Given the description of an element on the screen output the (x, y) to click on. 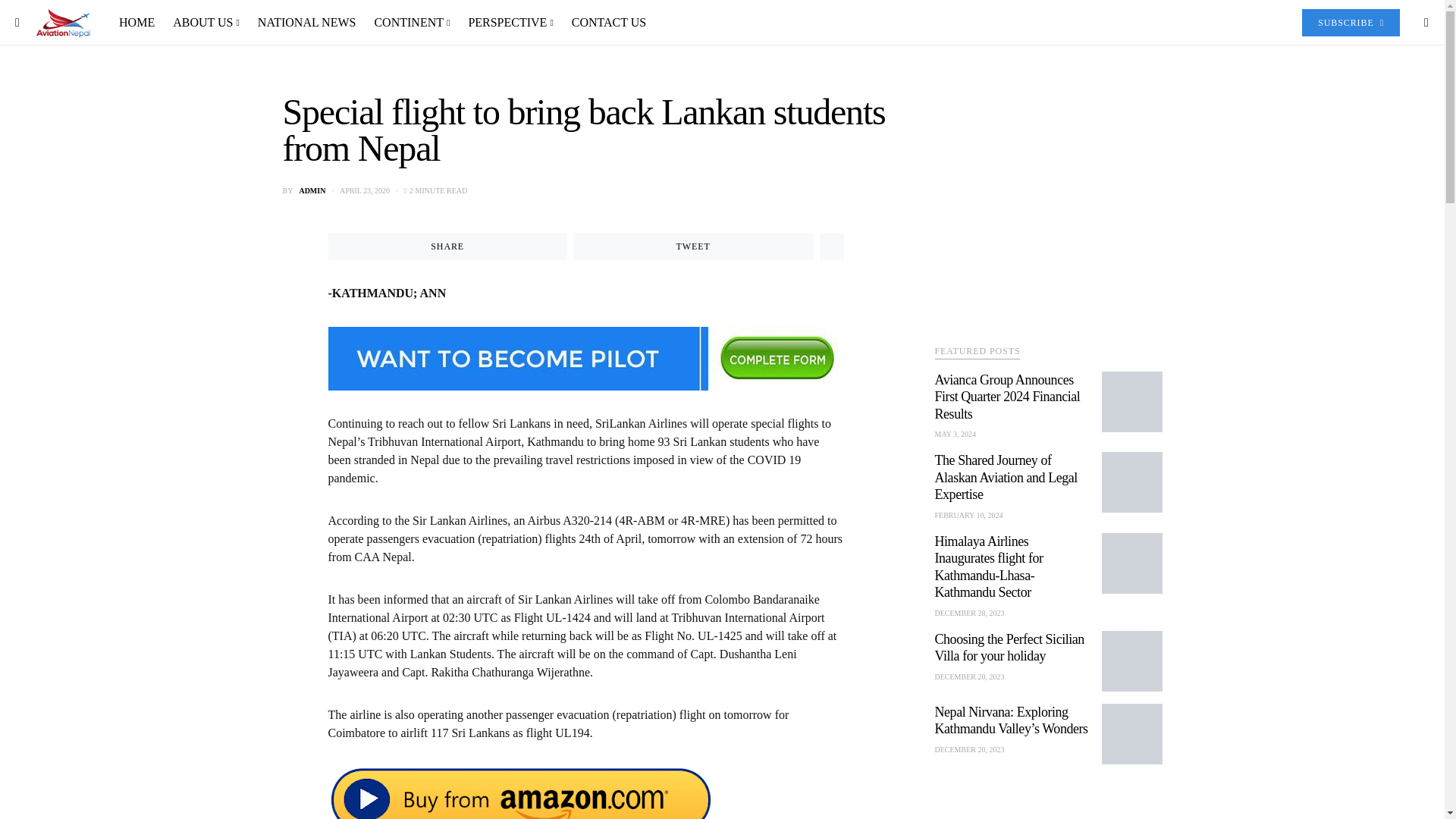
ADMIN (311, 190)
ABOUT US (205, 22)
HOME (141, 22)
NATIONAL NEWS (306, 22)
PERSPECTIVE (510, 22)
CONTACT US (604, 22)
SUBSCRIBE (1350, 22)
View all posts by Admin (311, 190)
CONTINENT (411, 22)
